Given the description of an element on the screen output the (x, y) to click on. 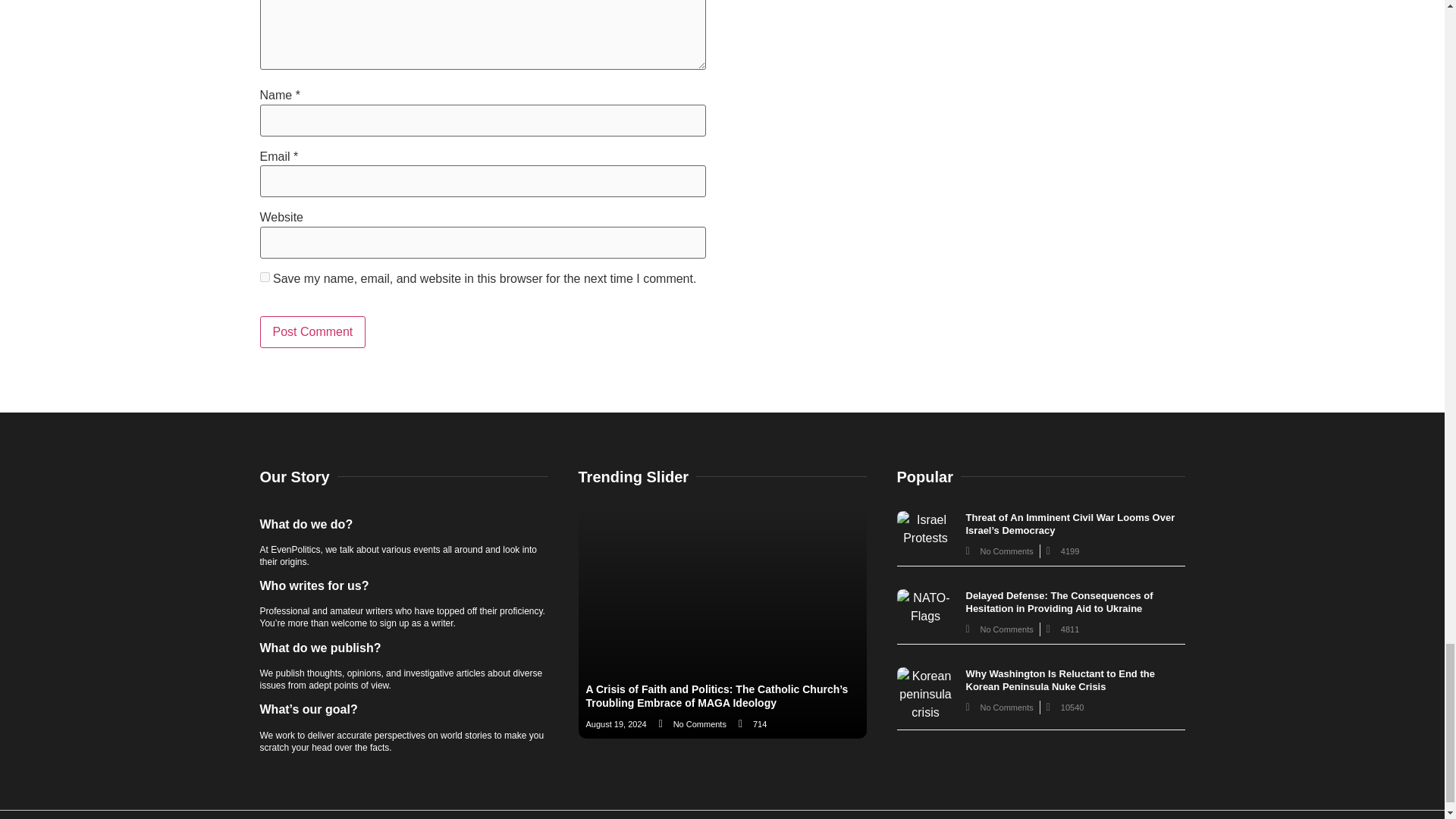
NATO-Flags (924, 606)
Post Comment (312, 332)
yes (264, 276)
Israel Protests (924, 529)
